Given the description of an element on the screen output the (x, y) to click on. 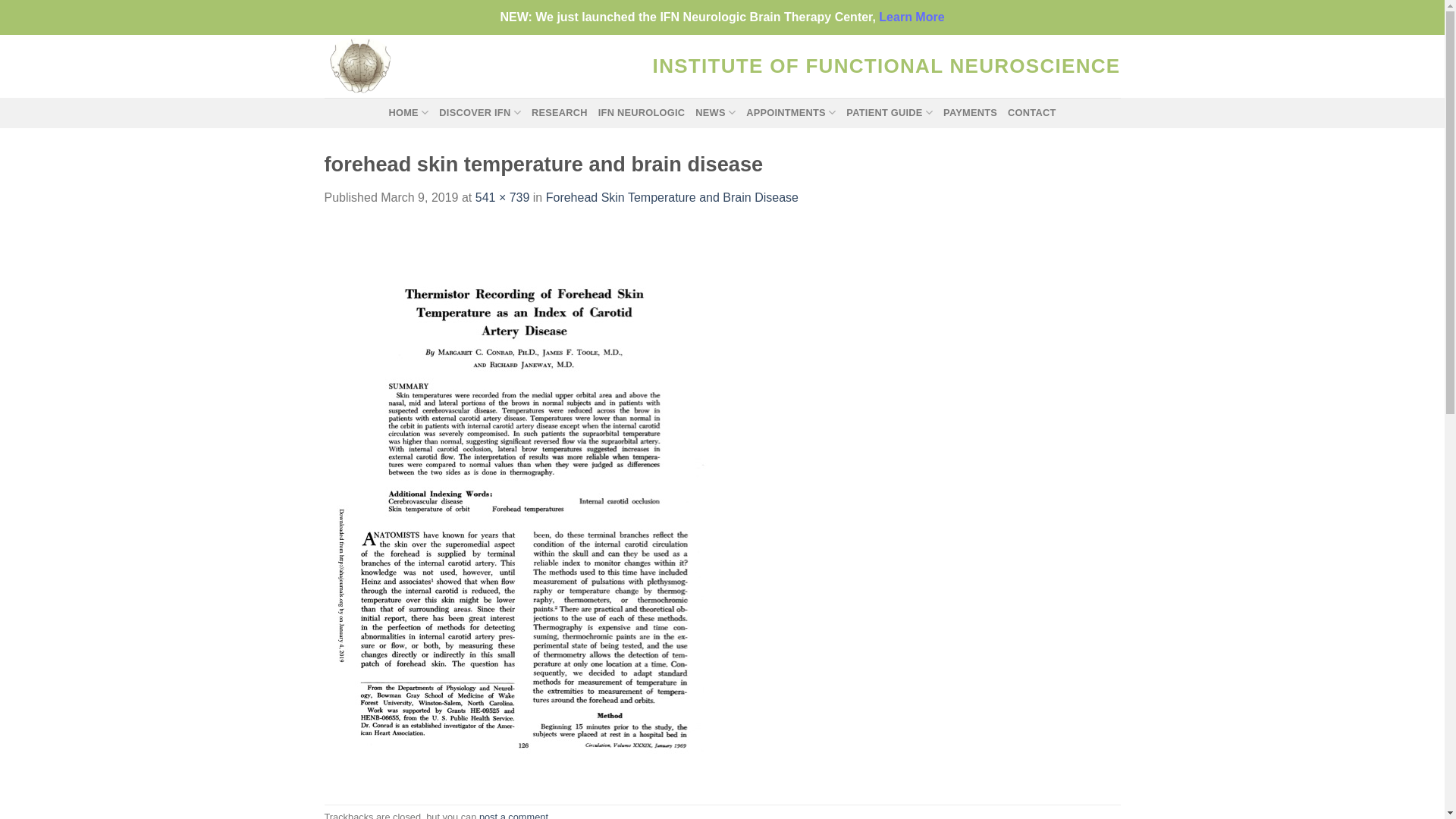
NEWS Element type: text (715, 112)
APPOINTMENTS Element type: text (790, 112)
HOME Element type: text (408, 112)
Learn More Element type: text (911, 16)
IFN NEUROLOGIC Element type: text (641, 112)
PAYMENTS Element type: text (970, 112)
PATIENT GUIDE Element type: text (889, 112)
CONTACT Element type: text (1031, 112)
DISCOVER IFN Element type: text (479, 112)
Forehead Skin Temperature and Brain Disease Element type: text (672, 197)
RESEARCH Element type: text (559, 112)
forehead skin temperature and brain disease Element type: hover (529, 504)
